Given the description of an element on the screen output the (x, y) to click on. 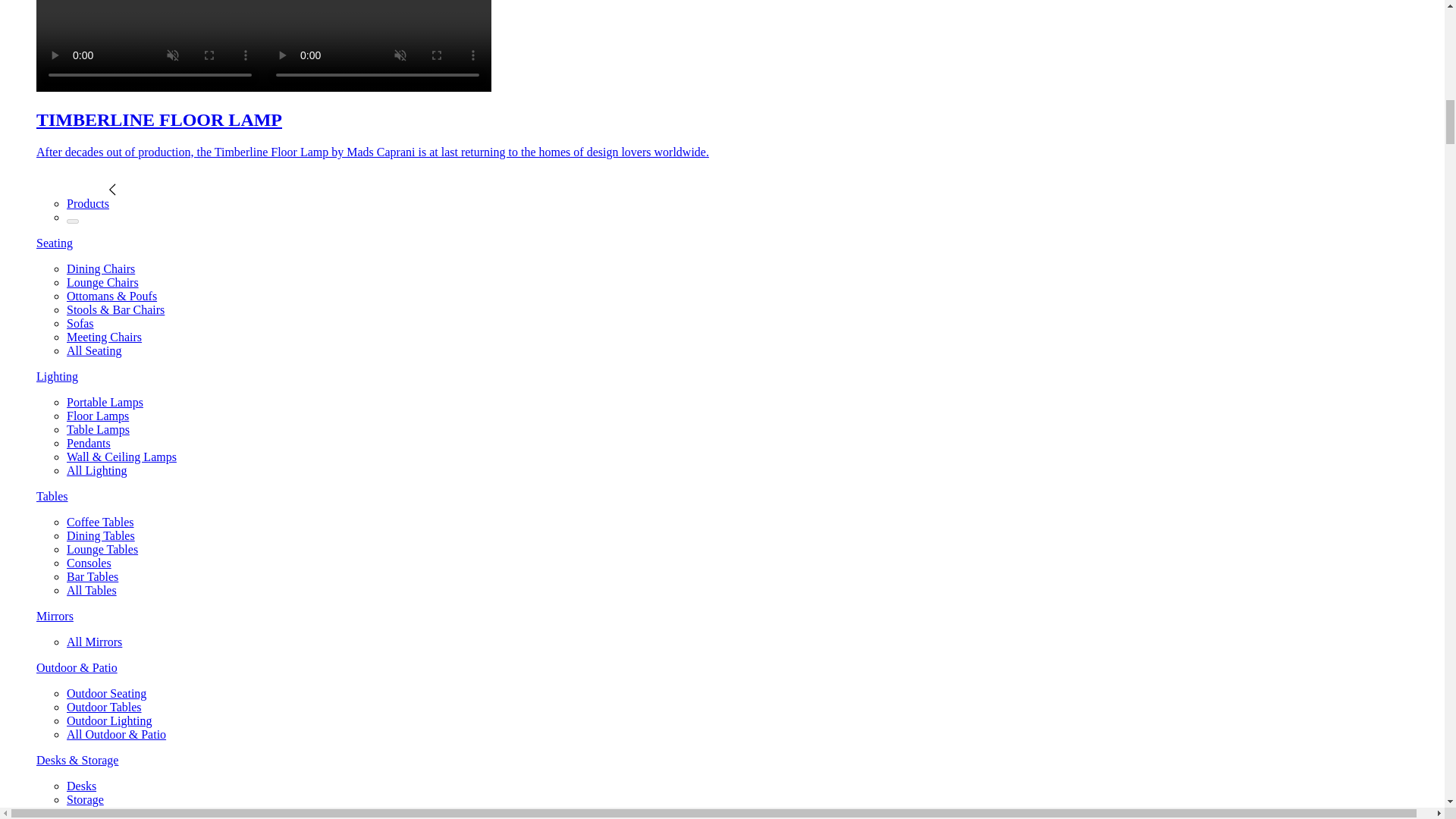
Lighting (57, 376)
Portable Lamps (104, 401)
Seating (54, 242)
Dining Chairs (100, 268)
Sofas (80, 323)
Meeting Chairs (103, 336)
Products (91, 203)
All Seating (93, 350)
Floor Lamps (97, 415)
Lounge Chairs (102, 282)
